Given the description of an element on the screen output the (x, y) to click on. 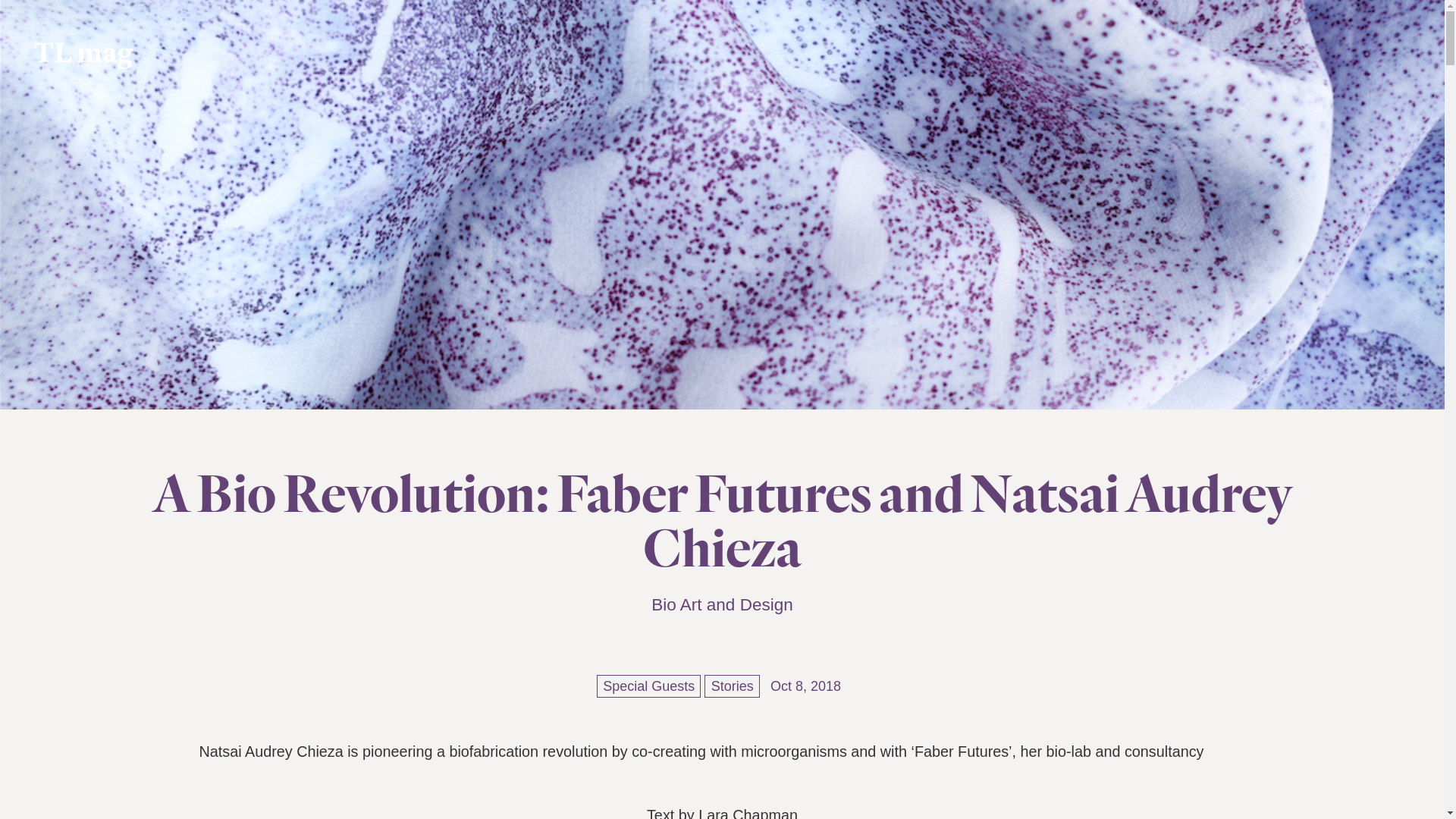
Posts by Lara Chapman (747, 812)
